Given the description of an element on the screen output the (x, y) to click on. 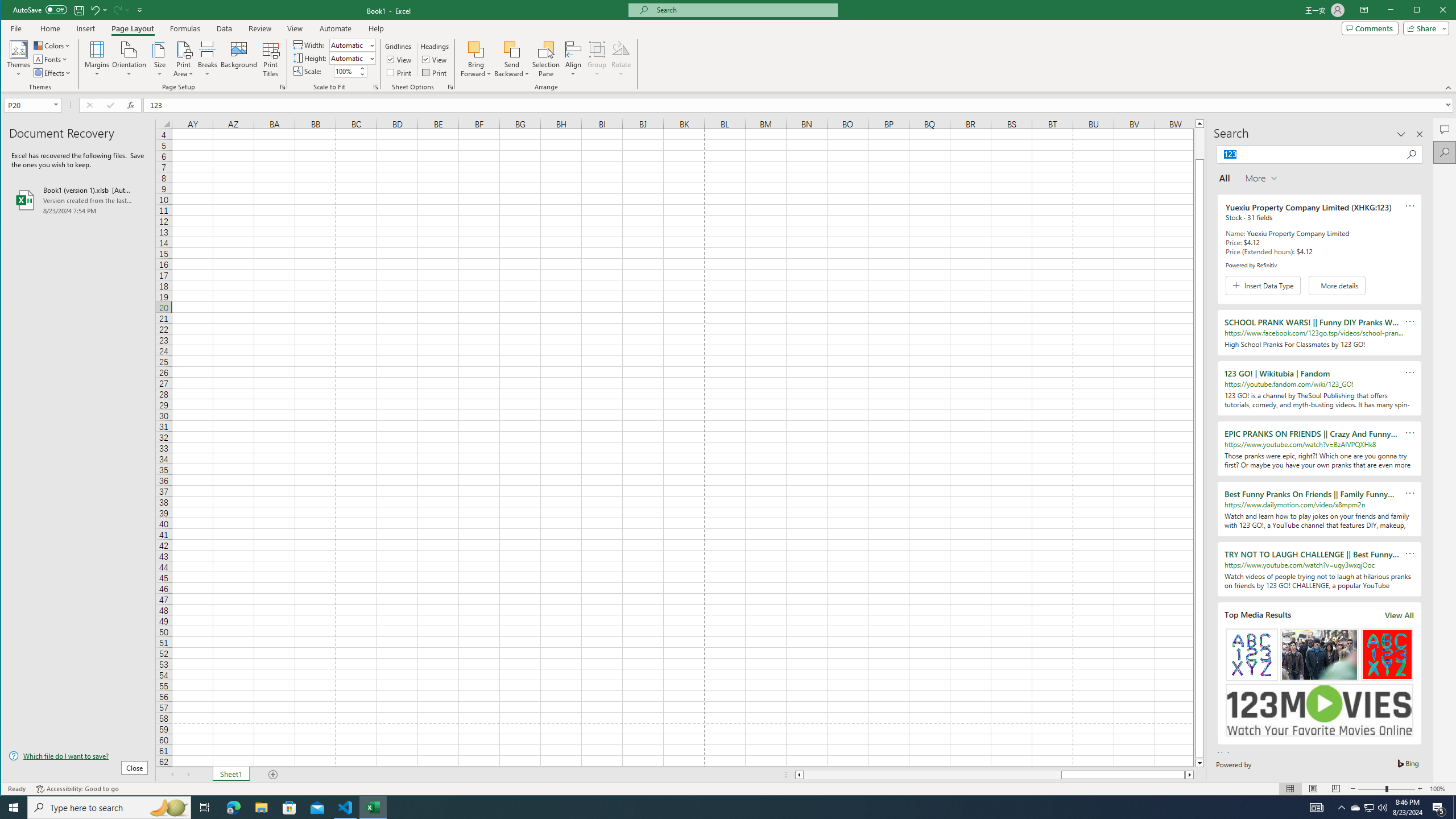
Action Center, 5 new notifications (1439, 807)
Selection Pane... (546, 59)
Colors (53, 45)
Print Area (183, 59)
Align (573, 59)
Excel - 1 running window (373, 807)
